Given the description of an element on the screen output the (x, y) to click on. 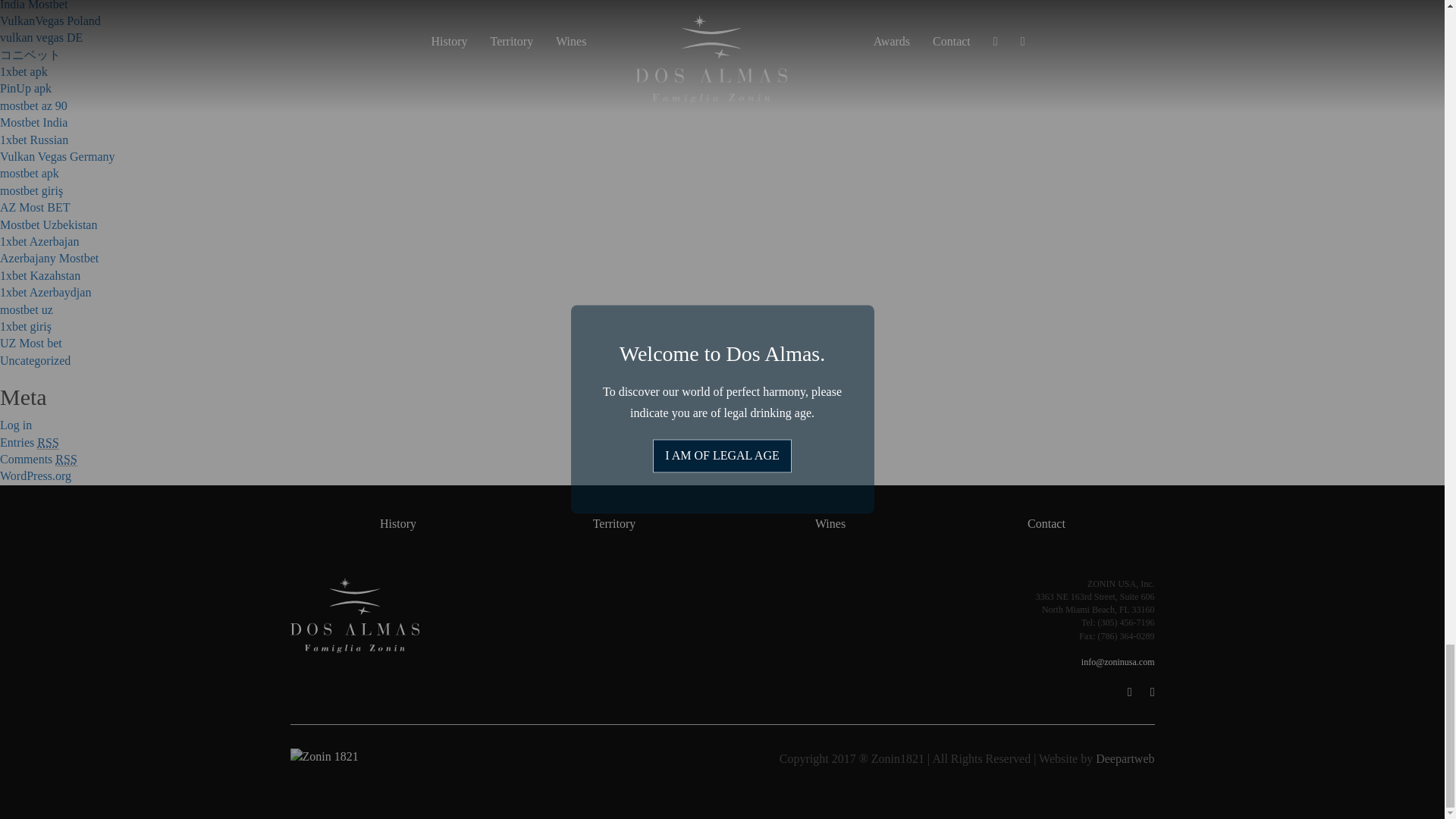
Really Simple Syndication (66, 459)
Really Simple Syndication (47, 441)
